Given the description of an element on the screen output the (x, y) to click on. 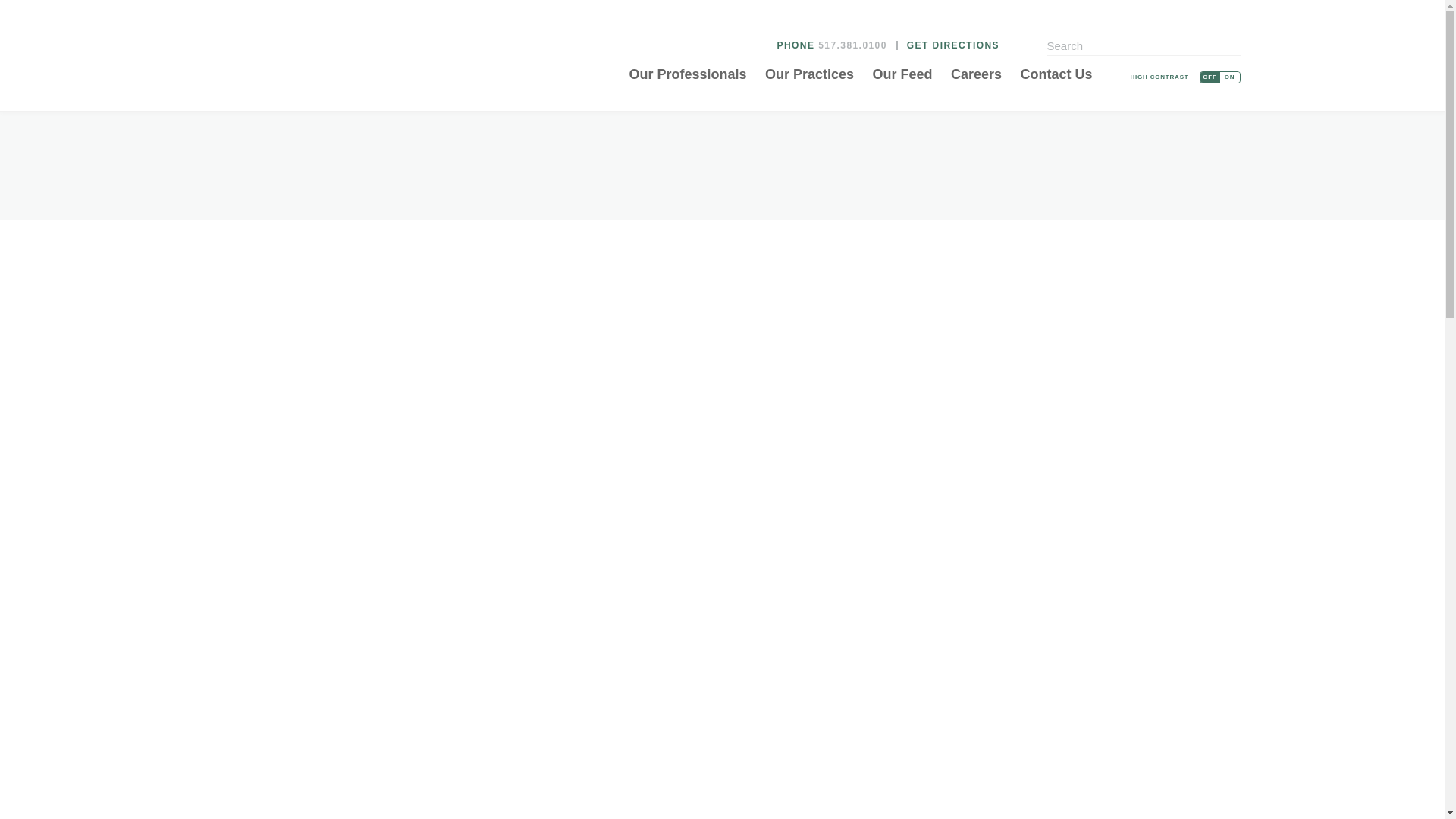
Careers (976, 73)
Our Feed (901, 73)
Our Professionals (687, 73)
Contact Us (1055, 73)
517.381.0100 (852, 45)
Search for: (1143, 46)
GET DIRECTIONS (952, 45)
FSBR (273, 58)
Our Practices (809, 73)
